Given the description of an element on the screen output the (x, y) to click on. 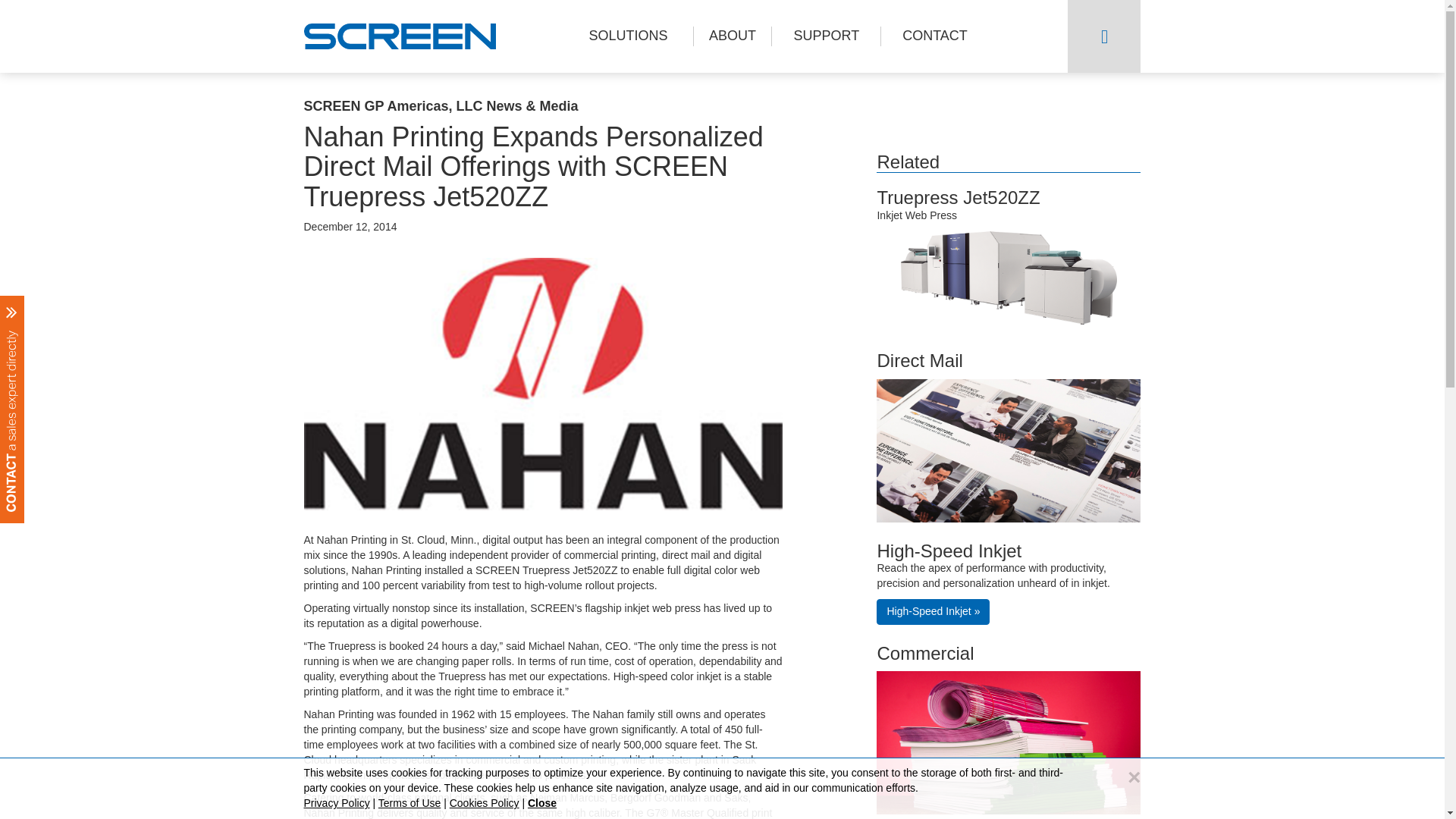
High-Speed Inkjet (949, 550)
Truepress Jet520ZZ (957, 197)
SUPPORT (825, 36)
CONTACT (934, 36)
SOLUTIONS (628, 36)
ABOUT (732, 36)
